Given the description of an element on the screen output the (x, y) to click on. 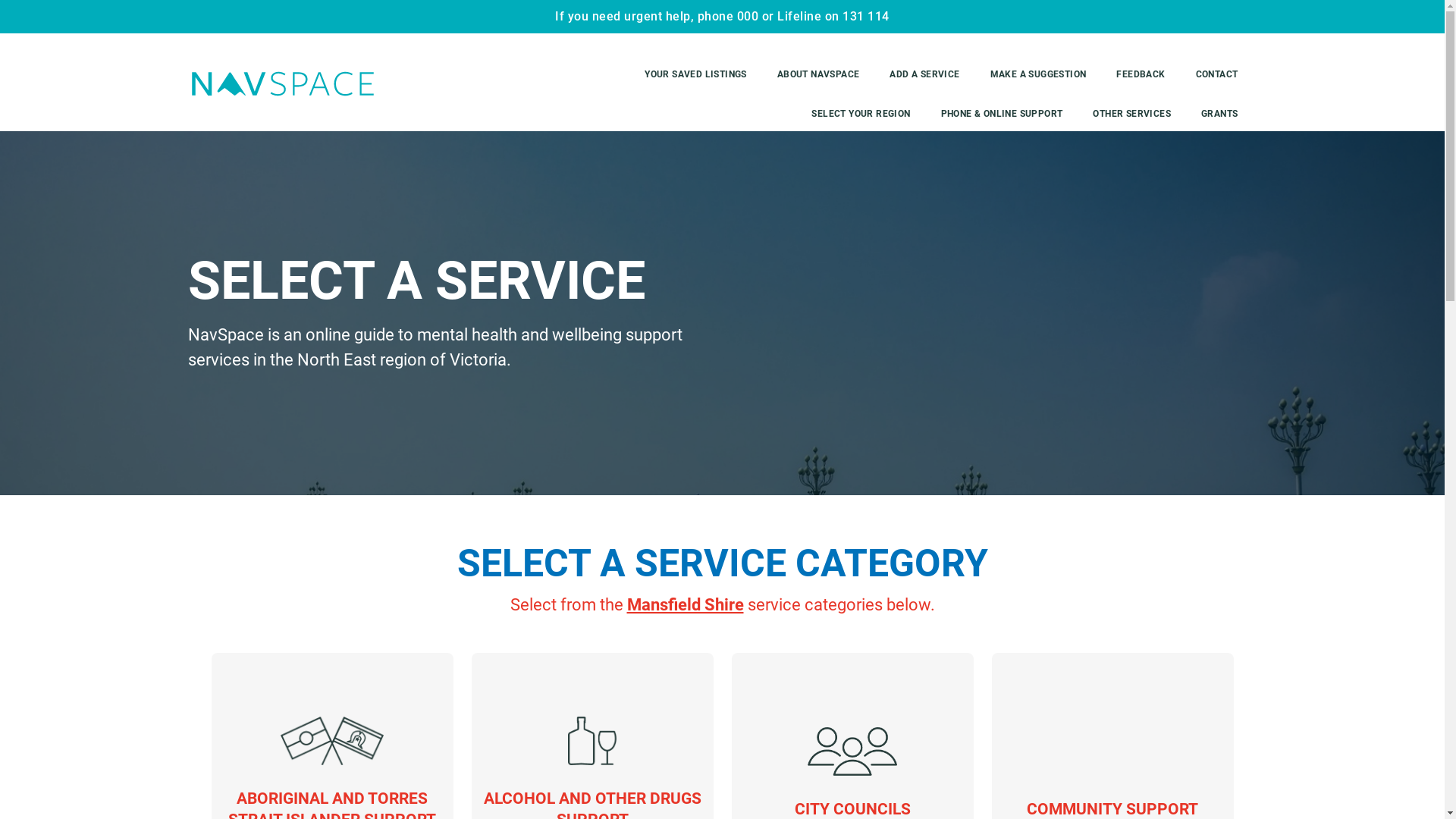
YOUR SAVED LISTINGS Element type: text (695, 73)
PHONE & ONLINE SUPPORT Element type: text (1001, 113)
MAKE A SUGGESTION Element type: text (1038, 73)
SELECT YOUR REGION Element type: text (860, 113)
GRANTS Element type: text (1219, 113)
ABOUT NAVSPACE Element type: text (818, 73)
ADD A SERVICE Element type: text (924, 73)
FEEDBACK Element type: text (1140, 73)
CONTACT Element type: text (1216, 73)
OTHER SERVICES Element type: text (1131, 113)
